Given the description of an element on the screen output the (x, y) to click on. 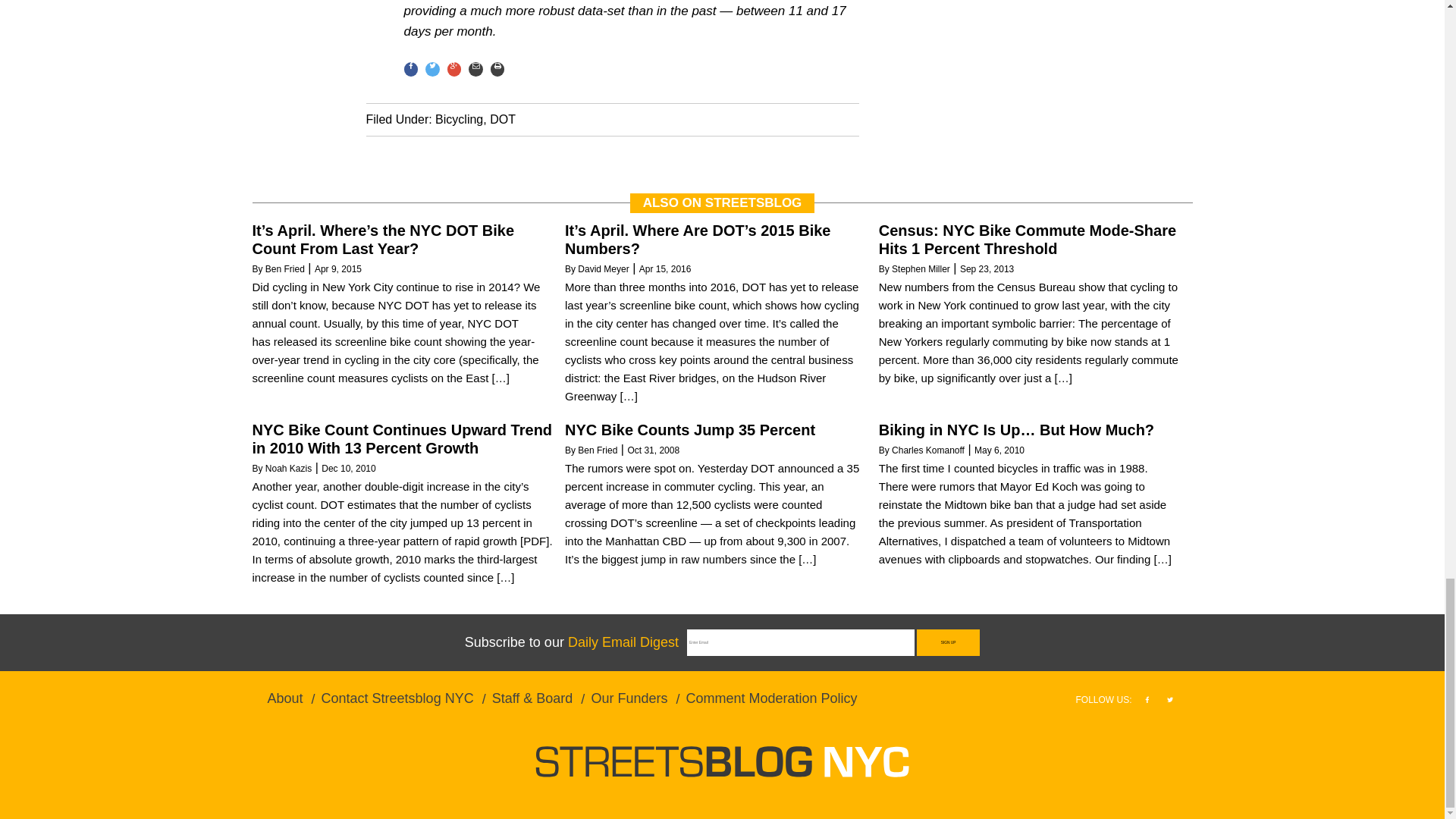
Streetsblog NYC Logo (721, 761)
